Given the description of an element on the screen output the (x, y) to click on. 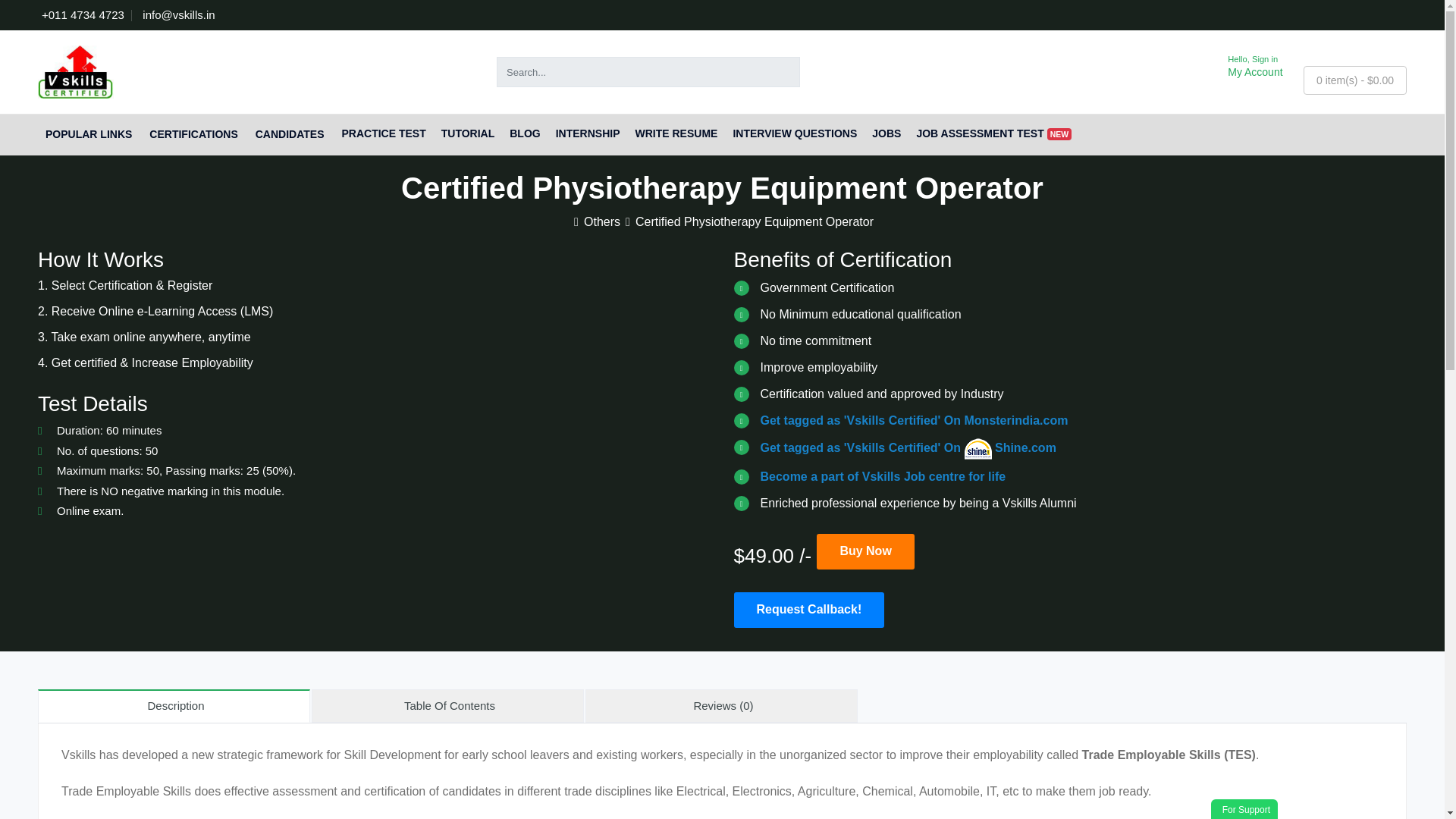
POPULAR LINKS (89, 134)
CERTIFICATIONS (194, 134)
